Given the description of an element on the screen output the (x, y) to click on. 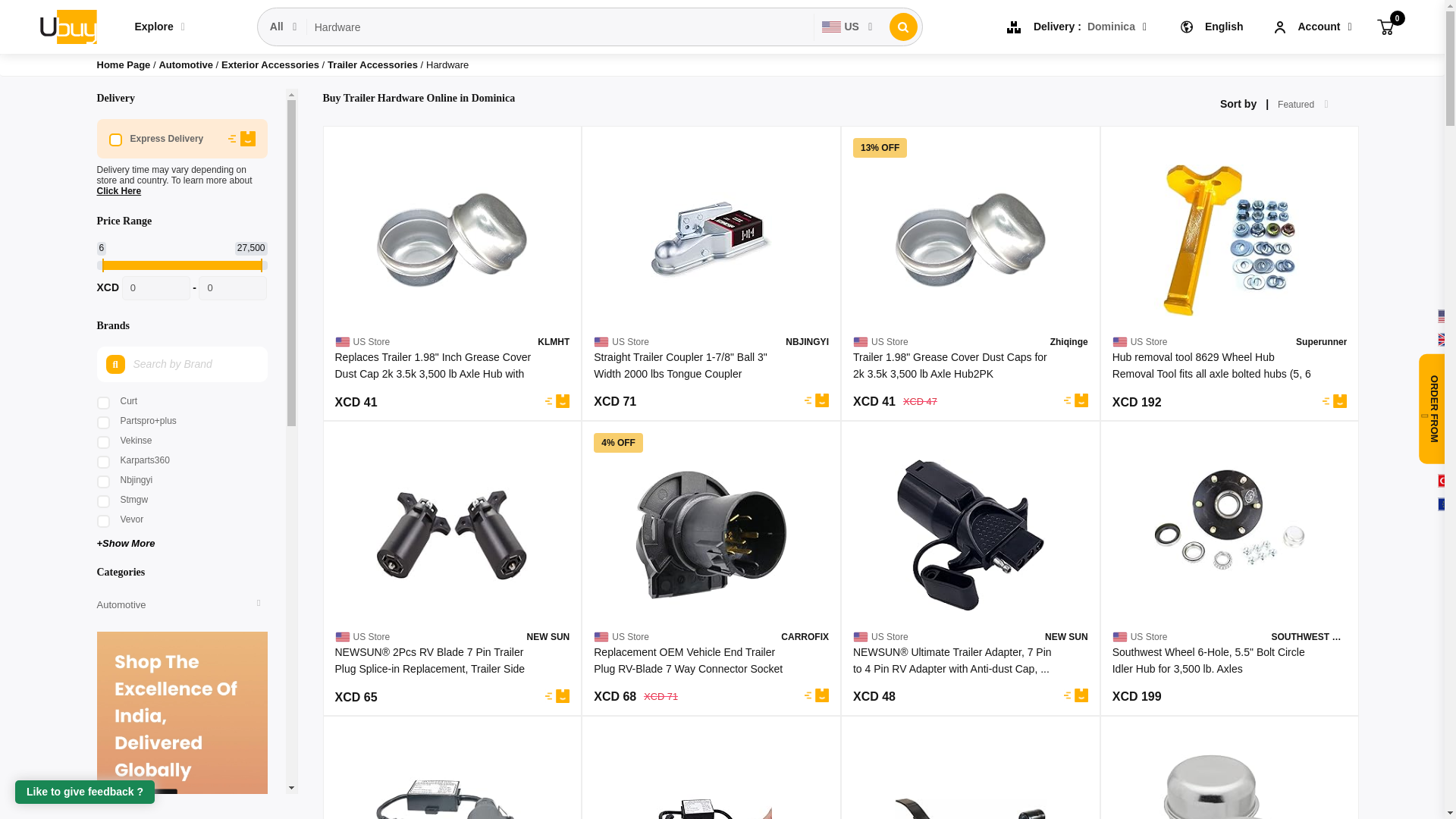
Hardware (560, 26)
Cart (1385, 26)
Automotive (186, 64)
US (846, 26)
0 (1385, 26)
Home Page (124, 64)
Home Page (124, 64)
Hardware (560, 26)
Automotive (186, 64)
0 (232, 288)
Ubuy (67, 26)
0 (156, 288)
All (283, 26)
